Given the description of an element on the screen output the (x, y) to click on. 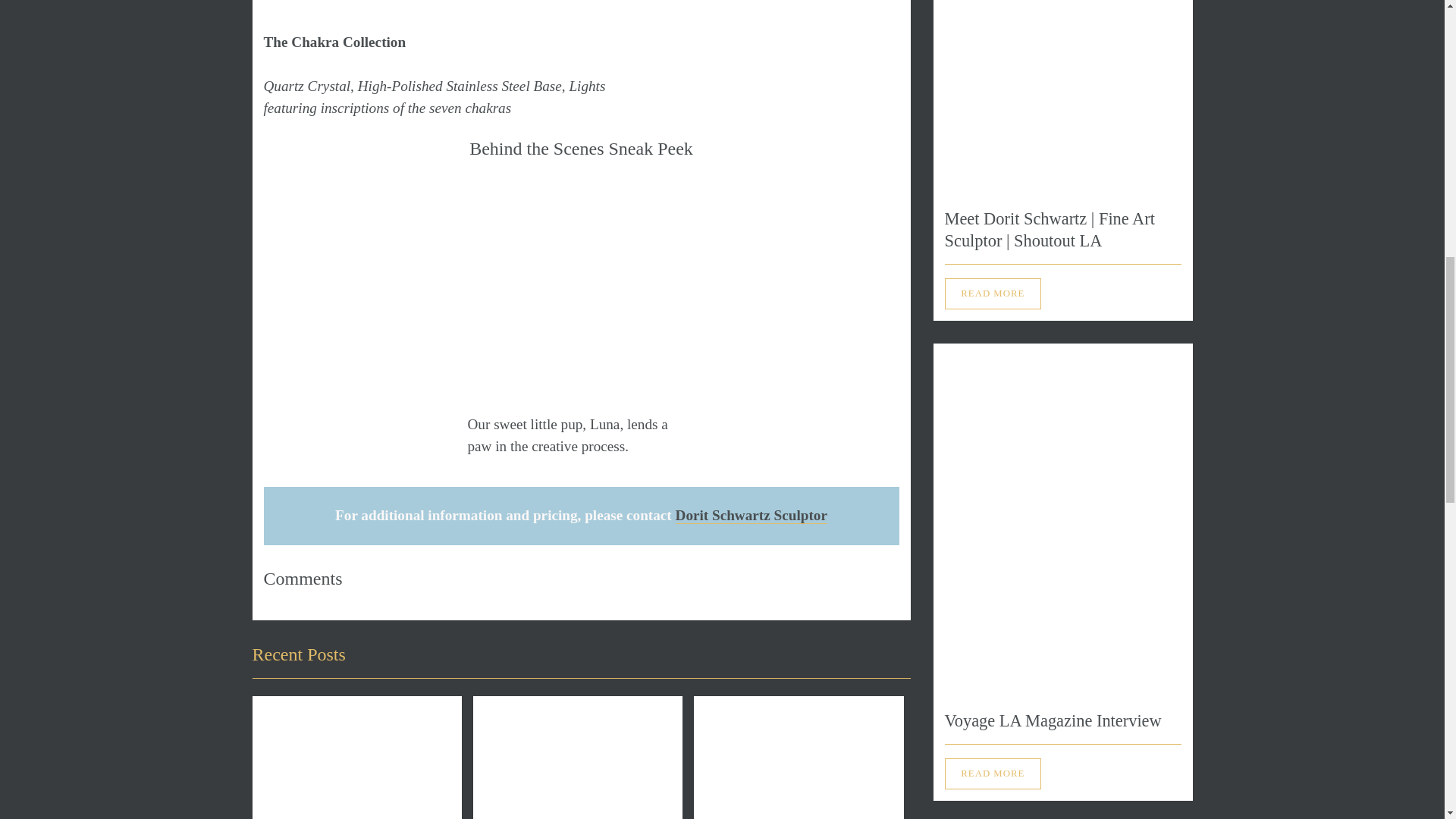
READ MORE (993, 293)
Voyage LA Magazine Interview (1052, 720)
READ MORE (993, 773)
Dorit Schwartz Sculptor (751, 515)
